Given the description of an element on the screen output the (x, y) to click on. 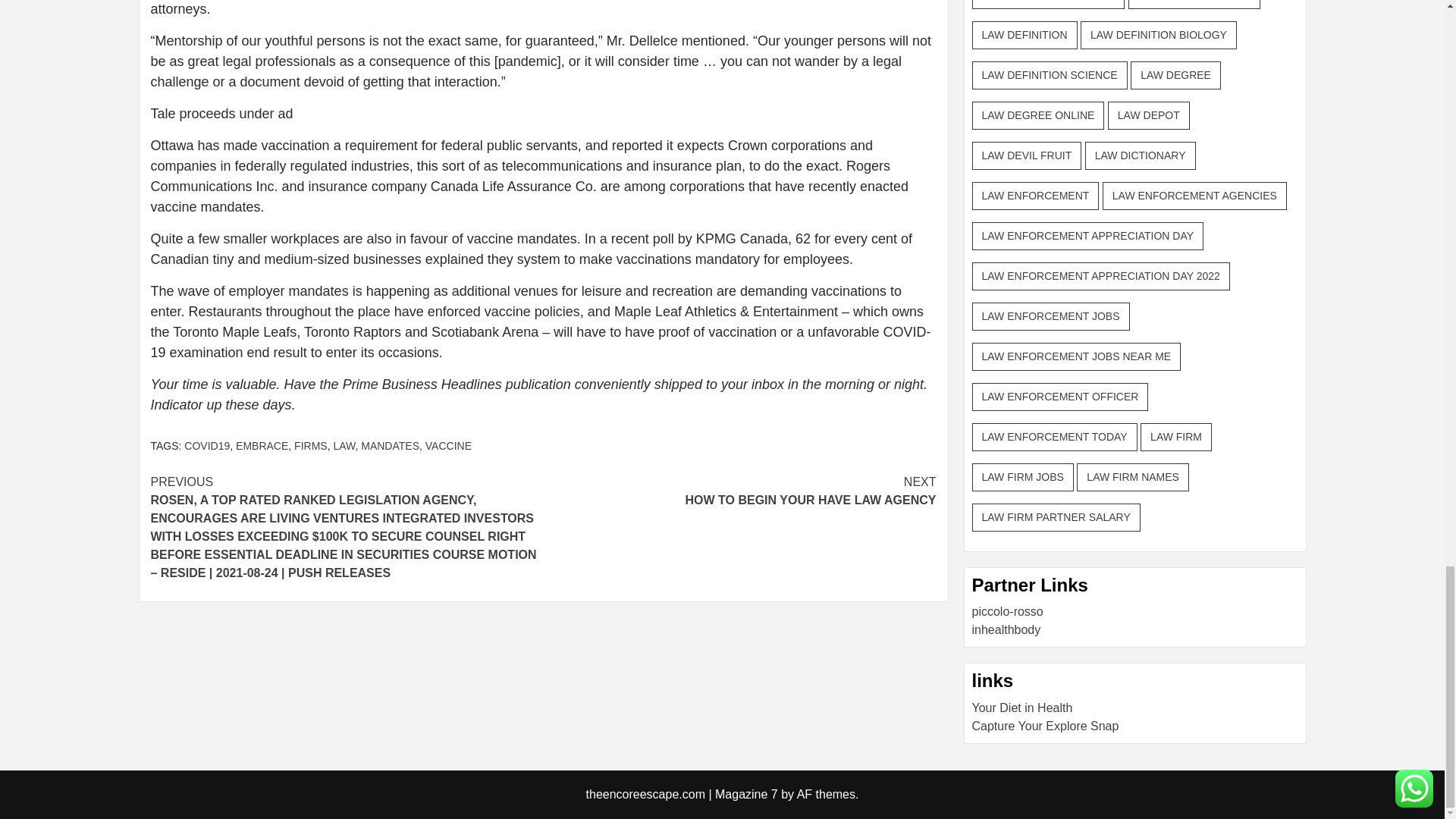
FIRMS (739, 491)
EMBRACE (310, 445)
VACCINE (261, 445)
MANDATES (448, 445)
LAW (390, 445)
COVID19 (344, 445)
